Given the description of an element on the screen output the (x, y) to click on. 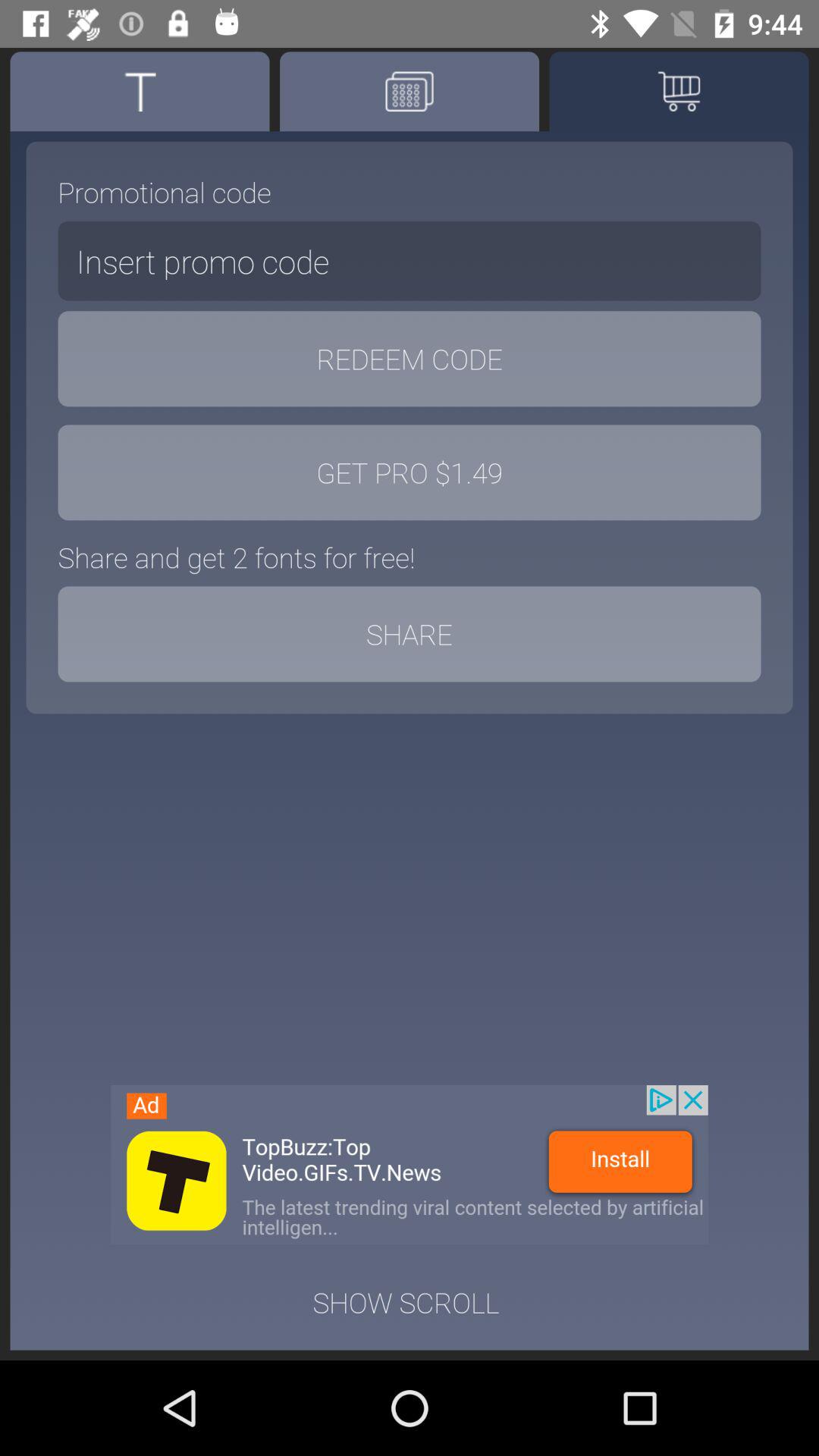
go to advertisement (409, 1164)
